Given the description of an element on the screen output the (x, y) to click on. 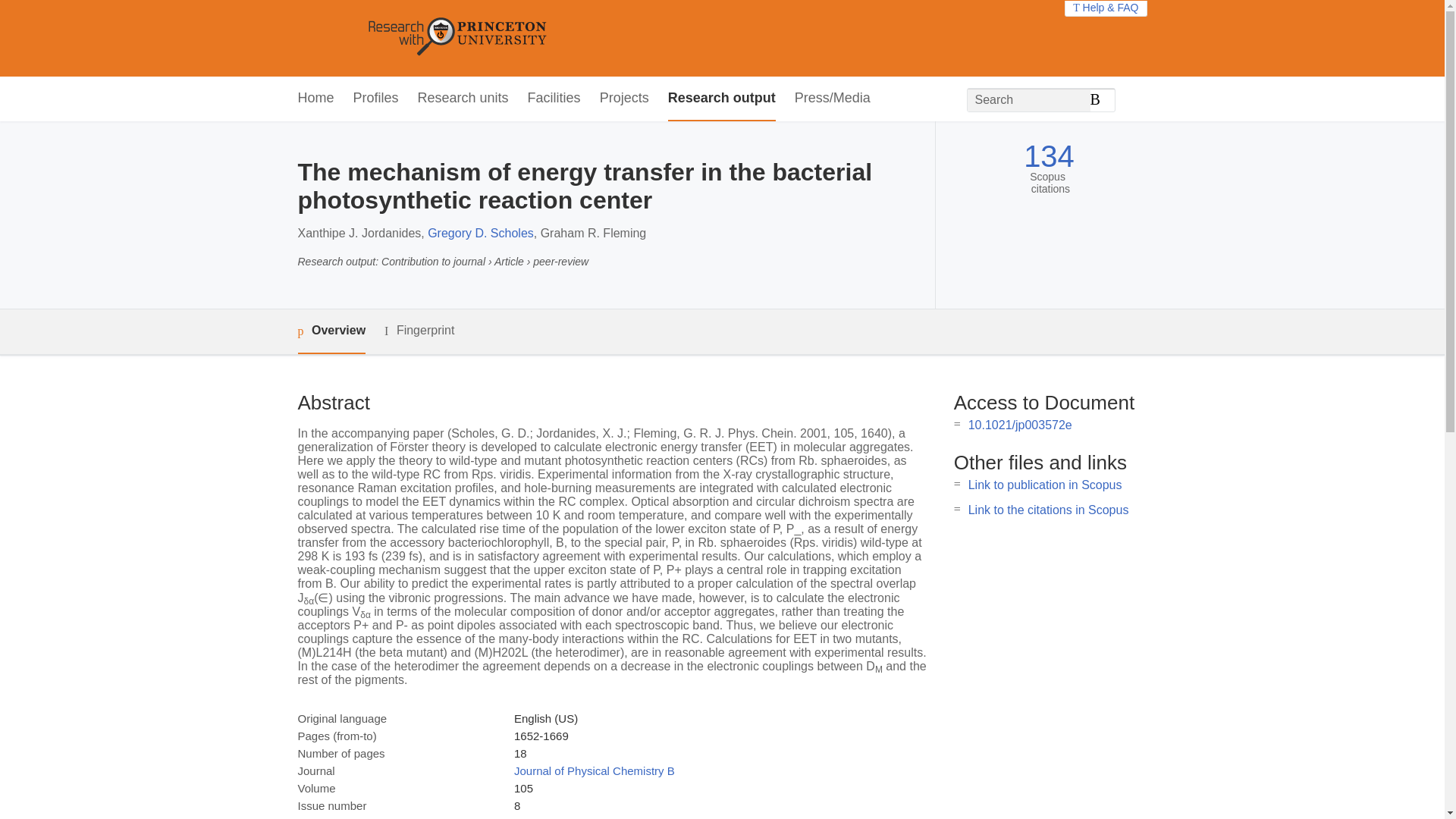
Research output (722, 98)
Research units (462, 98)
Overview (331, 331)
Journal of Physical Chemistry B (594, 770)
Link to publication in Scopus (1045, 484)
Projects (624, 98)
134 (1048, 156)
Gregory D. Scholes (481, 232)
Link to the citations in Scopus (1048, 509)
